Given the description of an element on the screen output the (x, y) to click on. 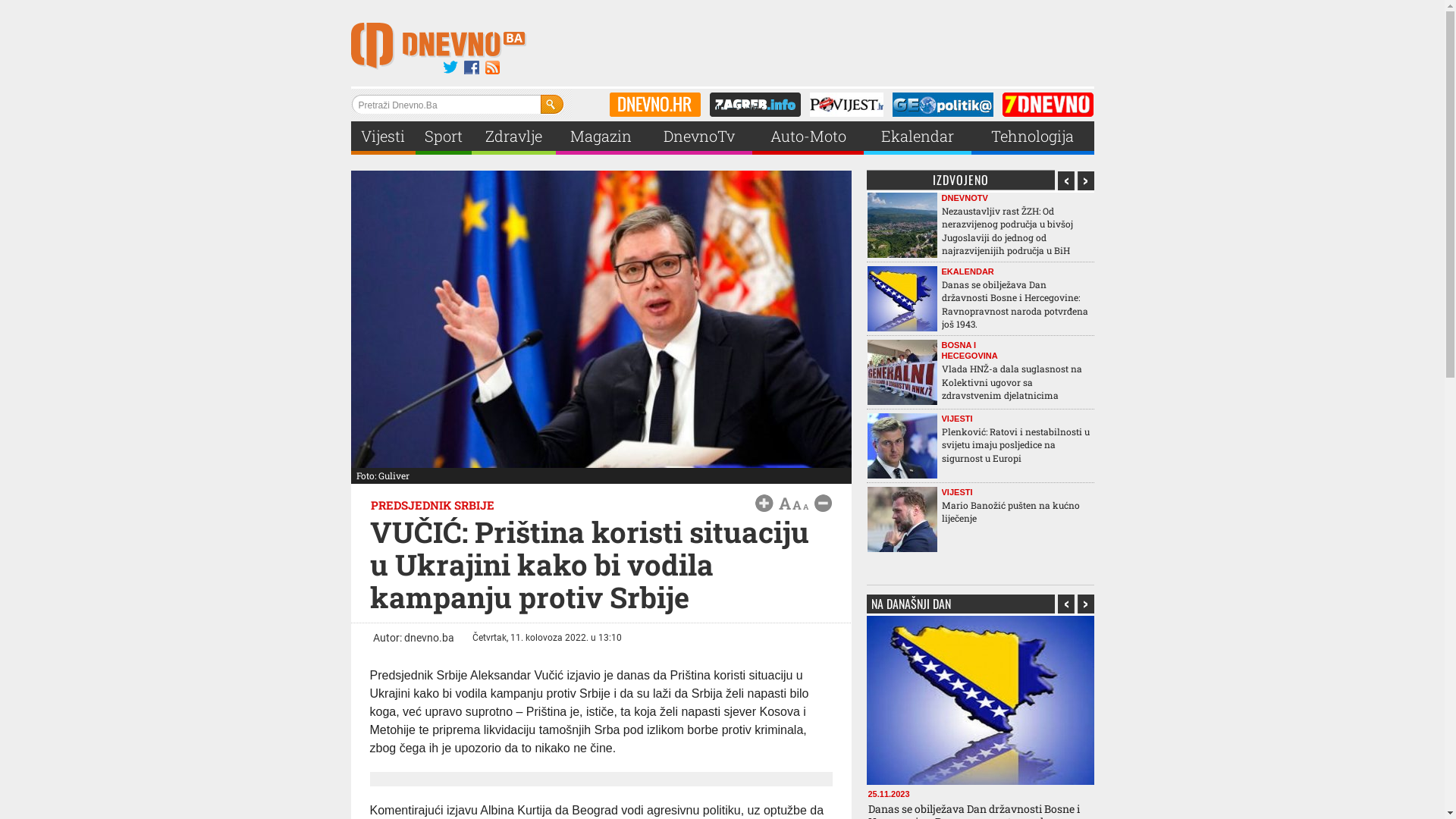
twitter Element type: text (450, 67)
Magazin Element type: text (600, 135)
Ekalendar Element type: text (917, 135)
submit Element type: text (551, 104)
rss Element type: text (492, 67)
PREDSJEDNIK SRBIJE Element type: text (431, 504)
Sport Element type: text (443, 135)
Next Element type: text (1085, 603)
Vijesti Element type: text (382, 135)
+ Element type: text (764, 503)
Previous Element type: text (1065, 180)
Previous Element type: text (1065, 603)
Next Element type: text (1085, 180)
DnevnoTv Element type: text (699, 135)
Tehnologija Element type: text (1032, 135)
facebook Element type: text (471, 67)
Zdravlje Element type: text (513, 135)
- Element type: text (823, 503)
AAA Element type: text (793, 503)
Auto-Moto Element type: text (808, 135)
